Given the description of an element on the screen output the (x, y) to click on. 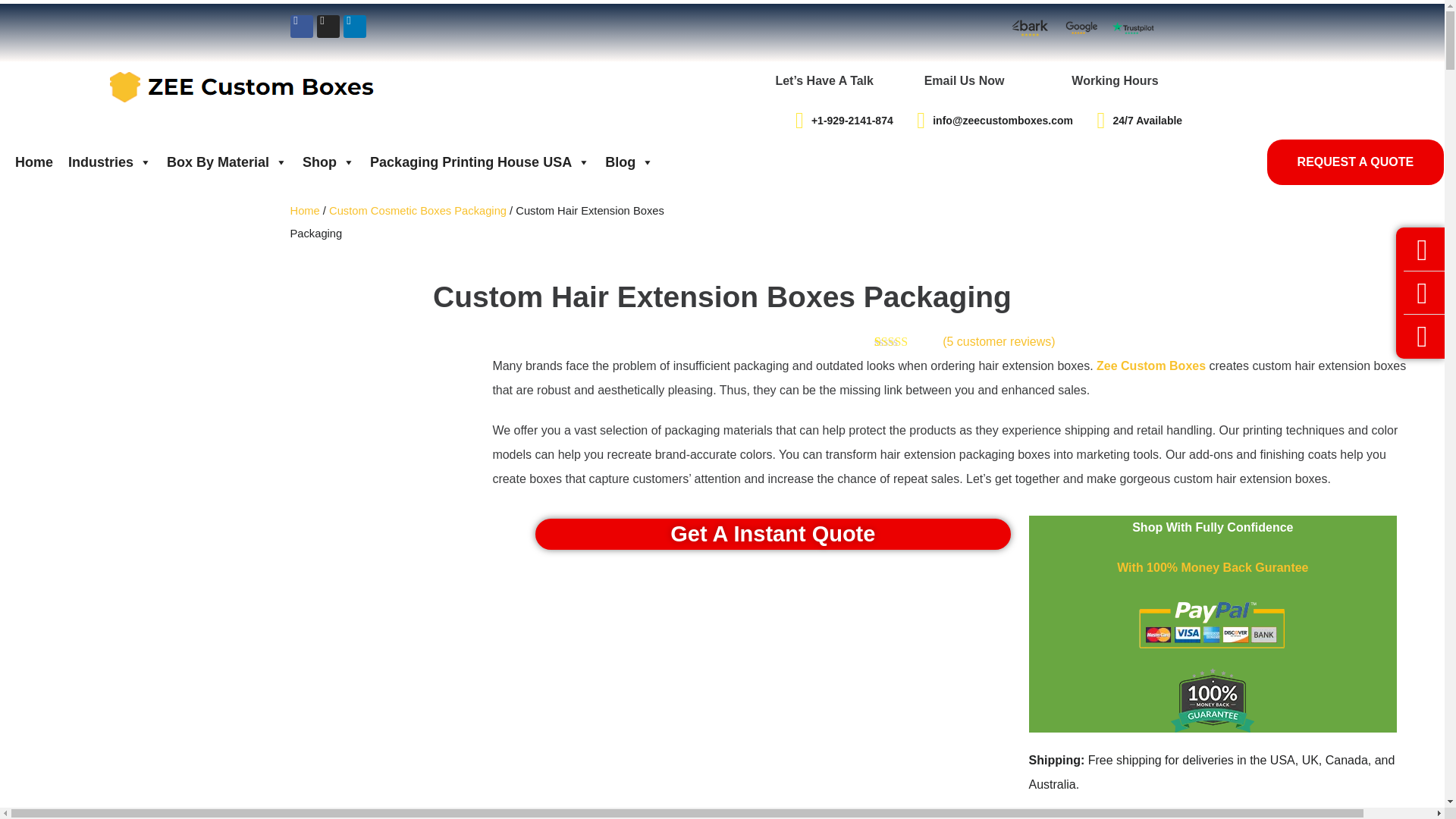
Industries (109, 162)
Home (34, 162)
Shop (328, 162)
Box By Material (226, 162)
